Given the description of an element on the screen output the (x, y) to click on. 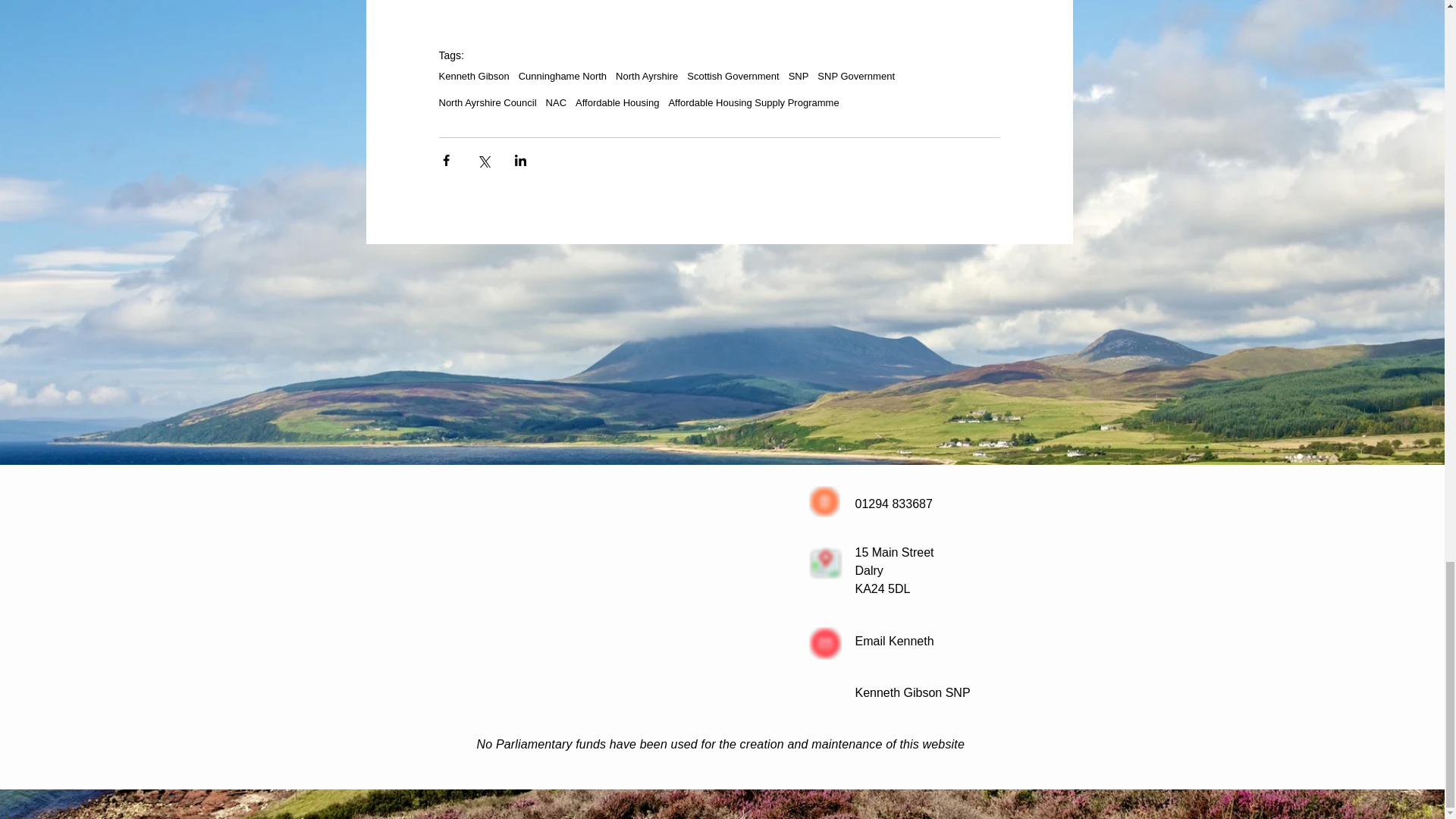
15 Main Street (895, 552)
Email (872, 640)
Kenneth Gibson SNP (913, 692)
Affordable Housing (617, 102)
North Ayrshire Council (486, 102)
North Ayrshire (646, 75)
SNP Government (855, 75)
Kenneth Gibson (473, 75)
SNP (799, 75)
01294 833687 (894, 503)
